Given the description of an element on the screen output the (x, y) to click on. 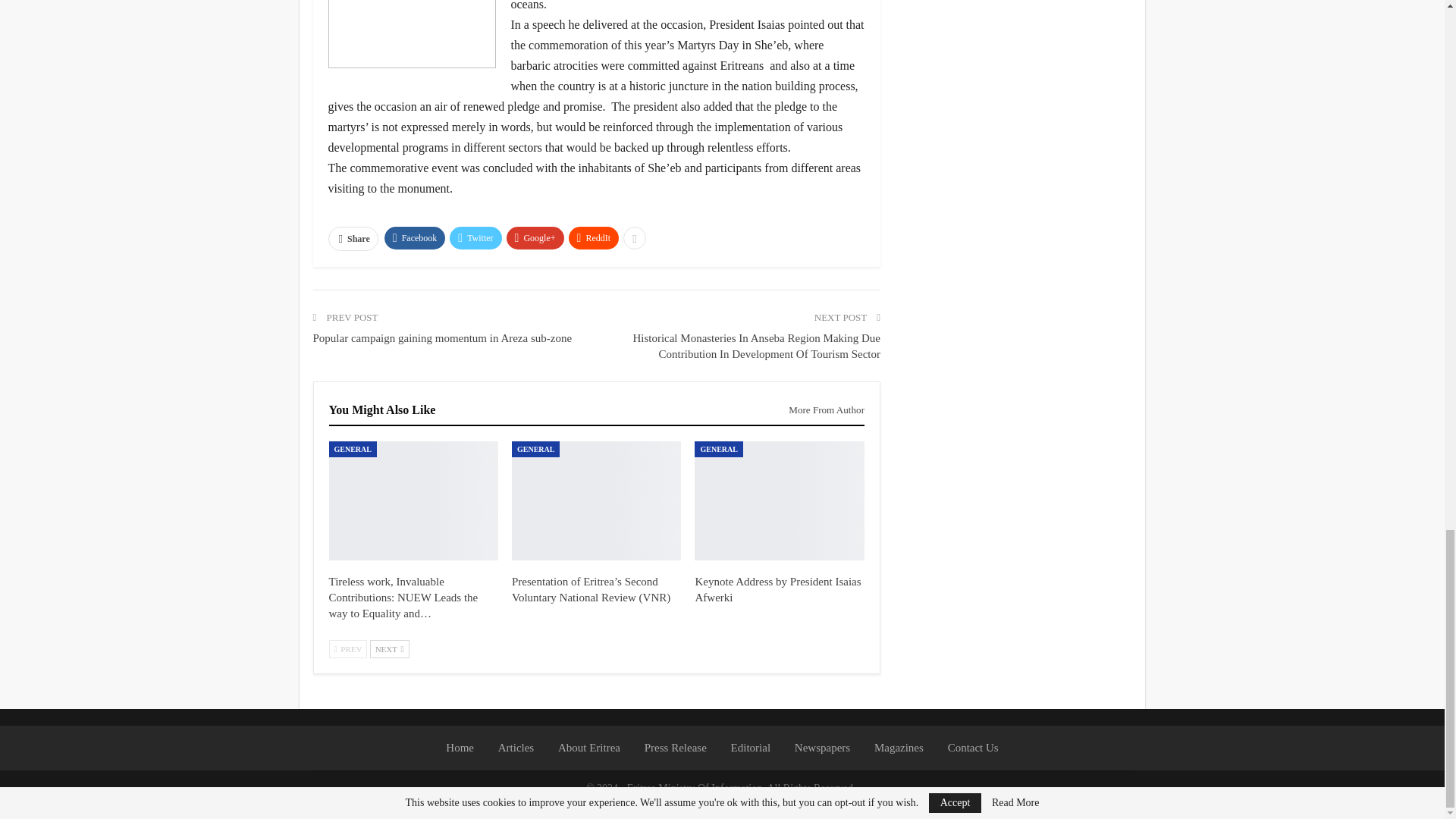
Keynote Address by President Isaias Afwerki (777, 589)
Previous (348, 648)
Keynote Address by President Isaias Afwerki (778, 500)
Next (389, 648)
